Given the description of an element on the screen output the (x, y) to click on. 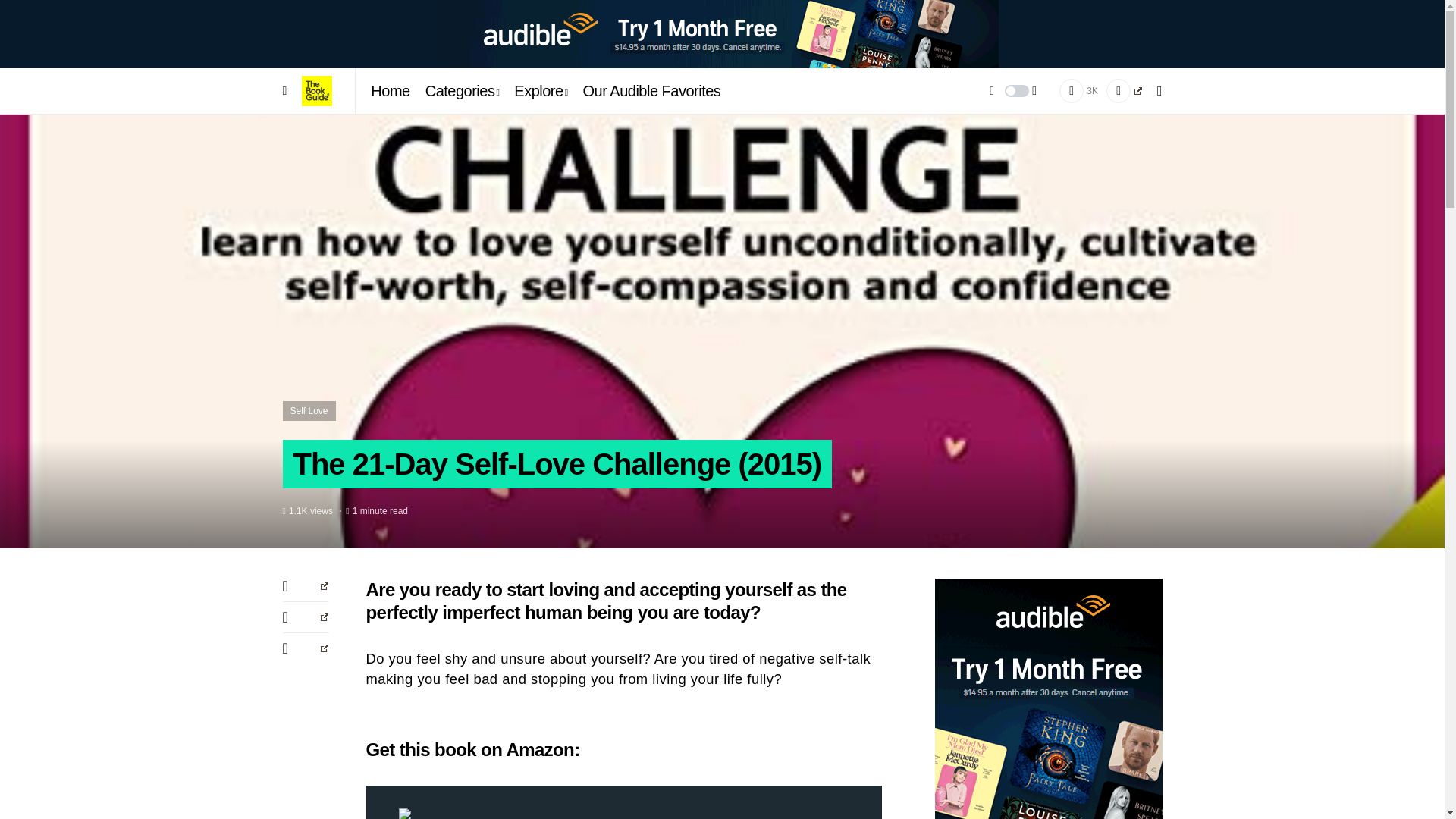
Categories (462, 90)
